Given the description of an element on the screen output the (x, y) to click on. 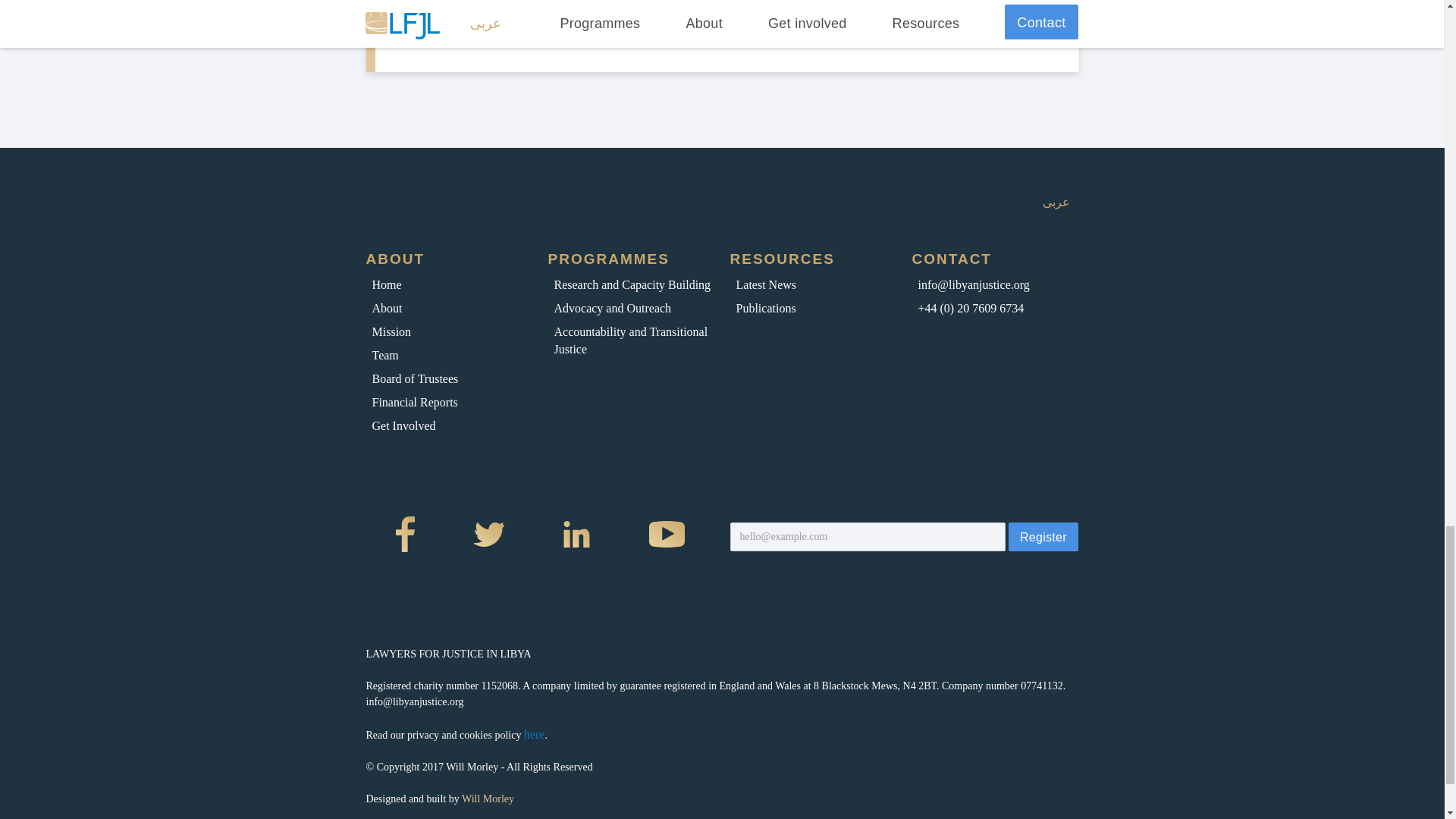
Register (1043, 536)
